Given the description of an element on the screen output the (x, y) to click on. 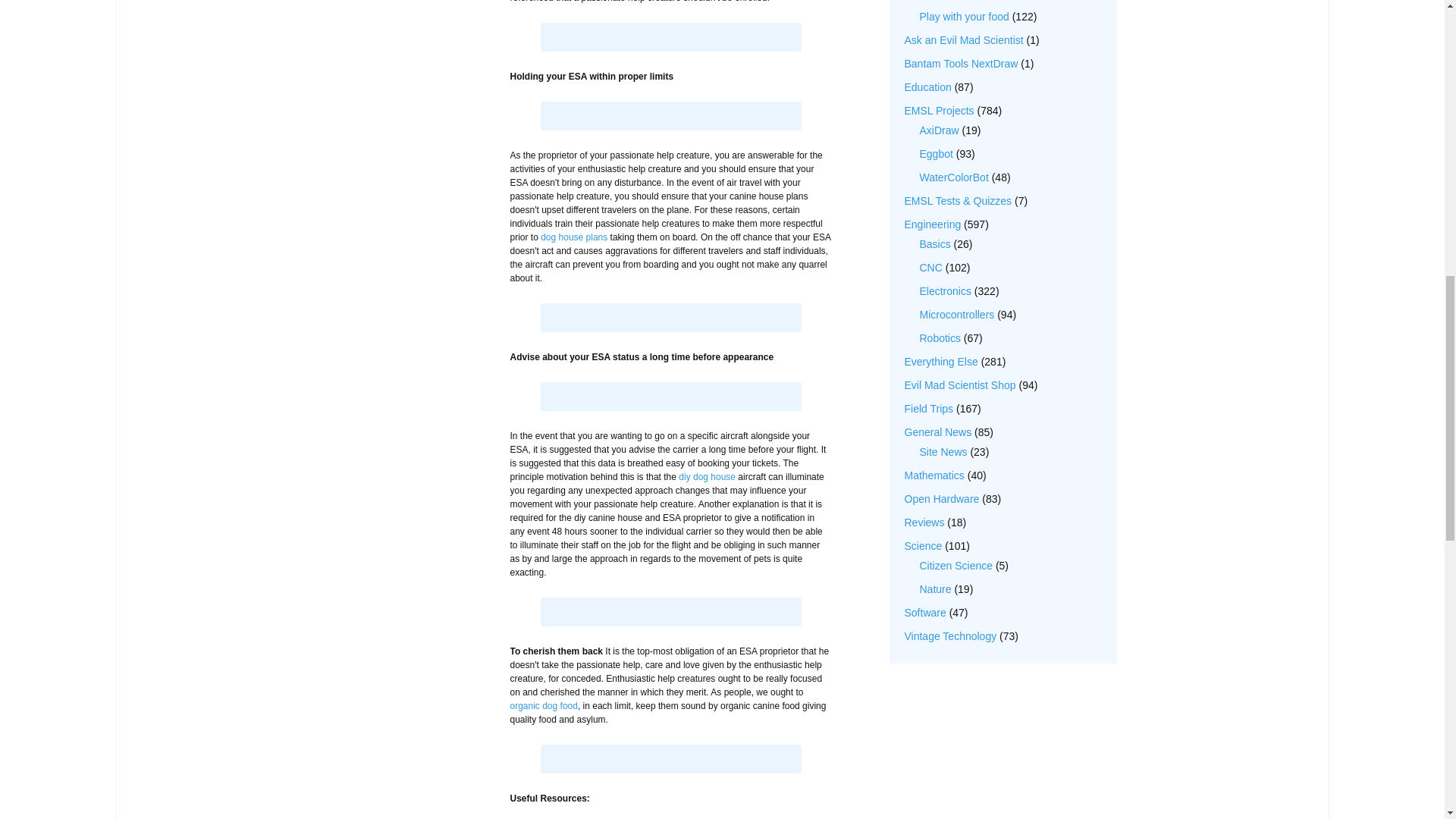
diy dog house (706, 476)
dog house plans (573, 236)
organic dog food (542, 706)
